Given the description of an element on the screen output the (x, y) to click on. 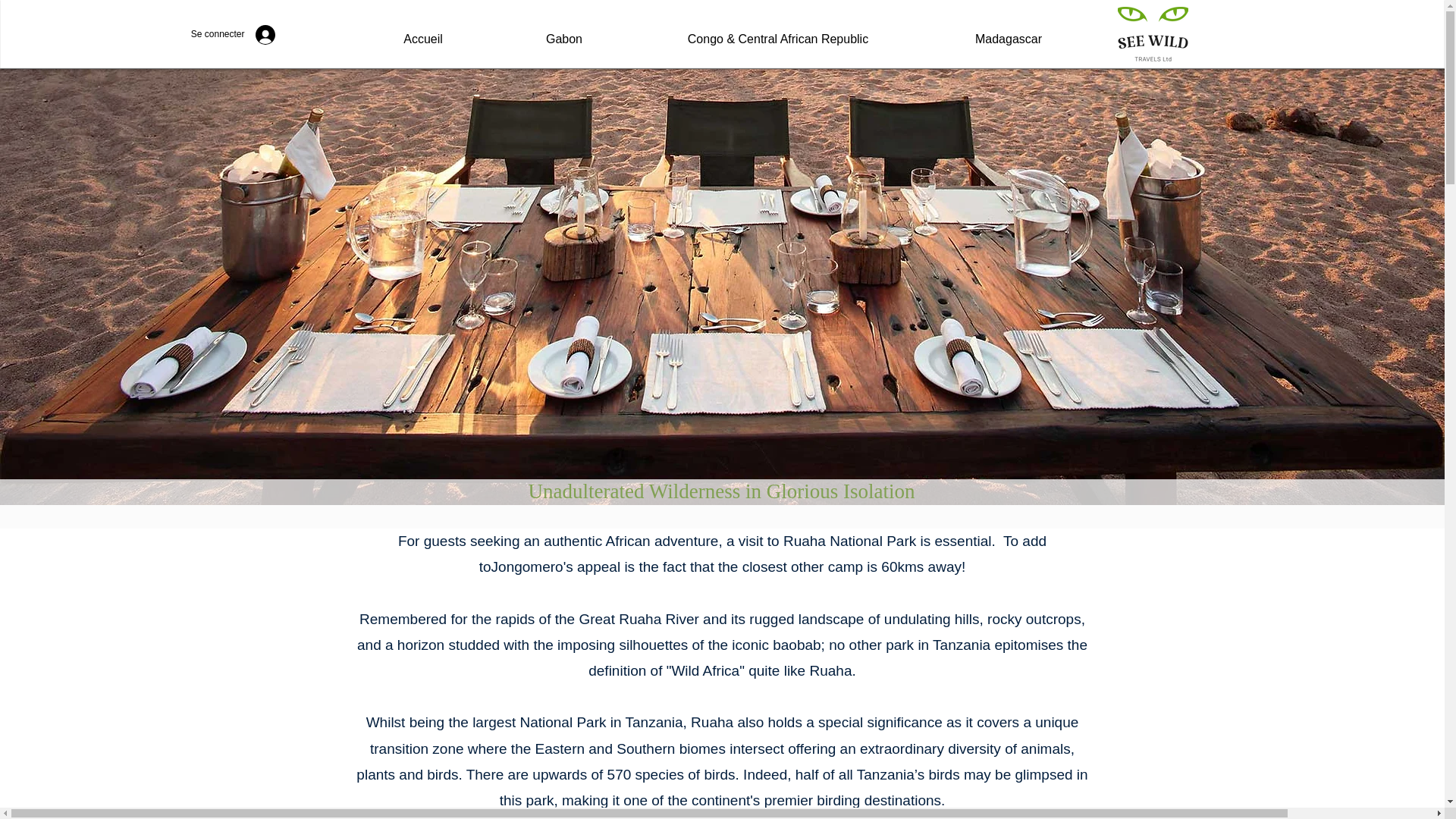
Gabon (564, 32)
Accueil (423, 32)
Se connecter (240, 33)
Madagascar (1007, 32)
